Given the description of an element on the screen output the (x, y) to click on. 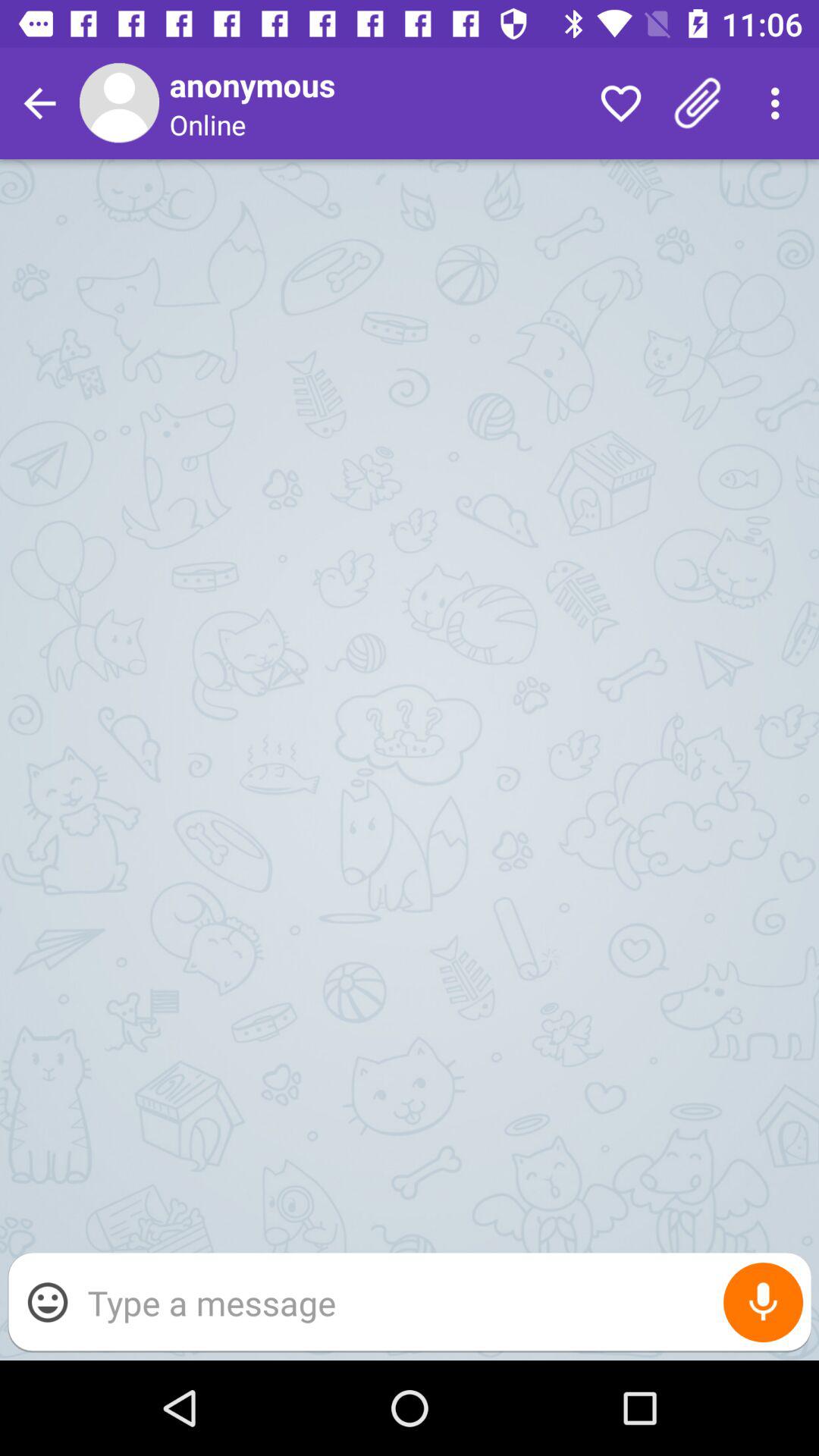
tap the icon at the bottom left corner (47, 1302)
